Given the description of an element on the screen output the (x, y) to click on. 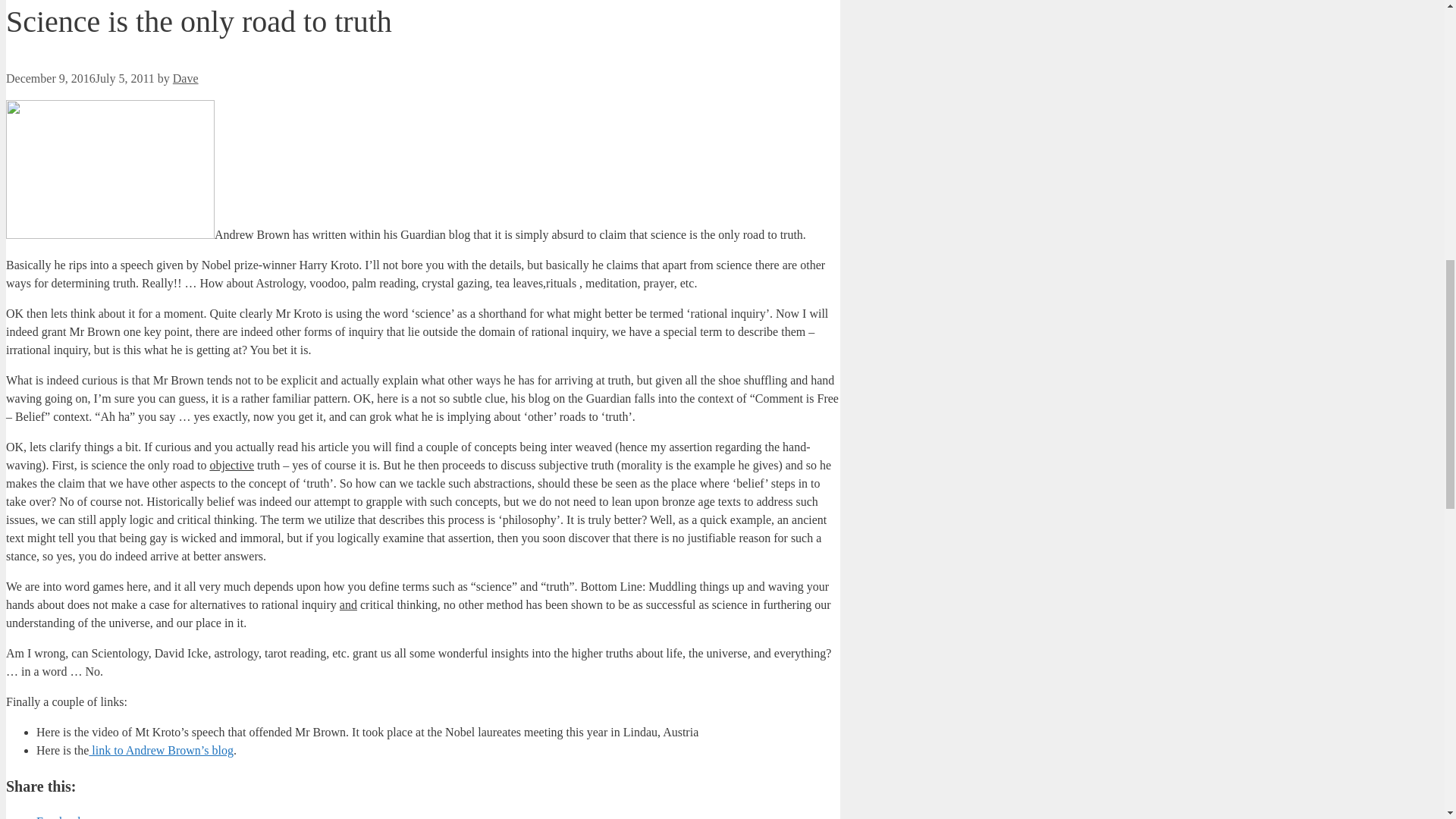
Dave (185, 78)
Click to share on Facebook (59, 816)
View all posts by Dave (185, 78)
images (109, 169)
Facebook (59, 816)
